Given the description of an element on the screen output the (x, y) to click on. 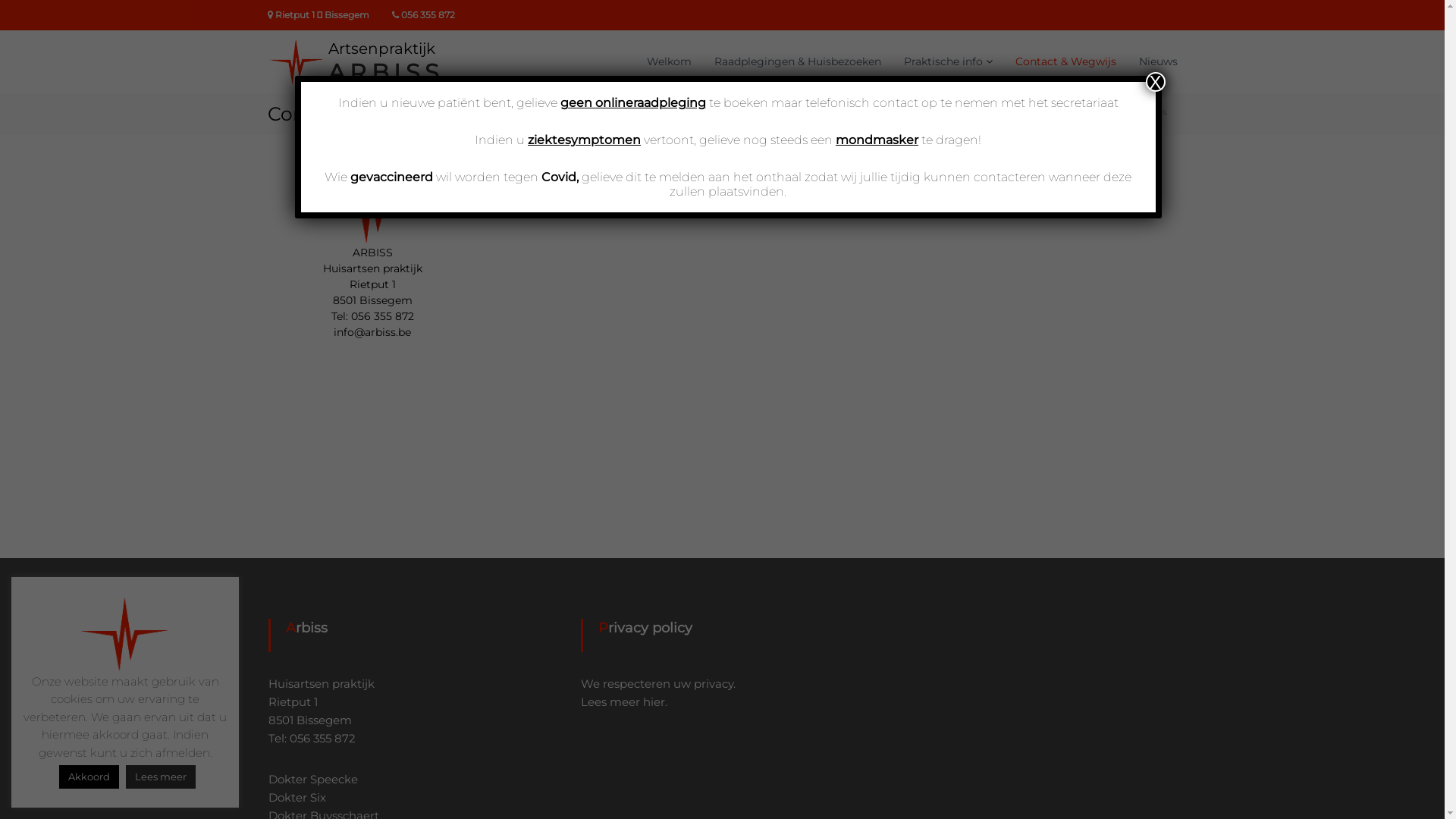
Contact & Wegwijs Element type: text (1064, 61)
Lees meer Element type: text (160, 776)
Nieuws Element type: text (1158, 61)
Praktische info Element type: text (942, 61)
Raadplegingen & Huisbezoeken Element type: text (797, 61)
Akkoord Element type: text (89, 776)
hier Element type: text (654, 701)
Welkom Element type: text (668, 61)
Artsenpraktijk Element type: text (380, 48)
X Element type: text (1154, 81)
Hoofdpagina Element type: text (1029, 111)
